Given the description of an element on the screen output the (x, y) to click on. 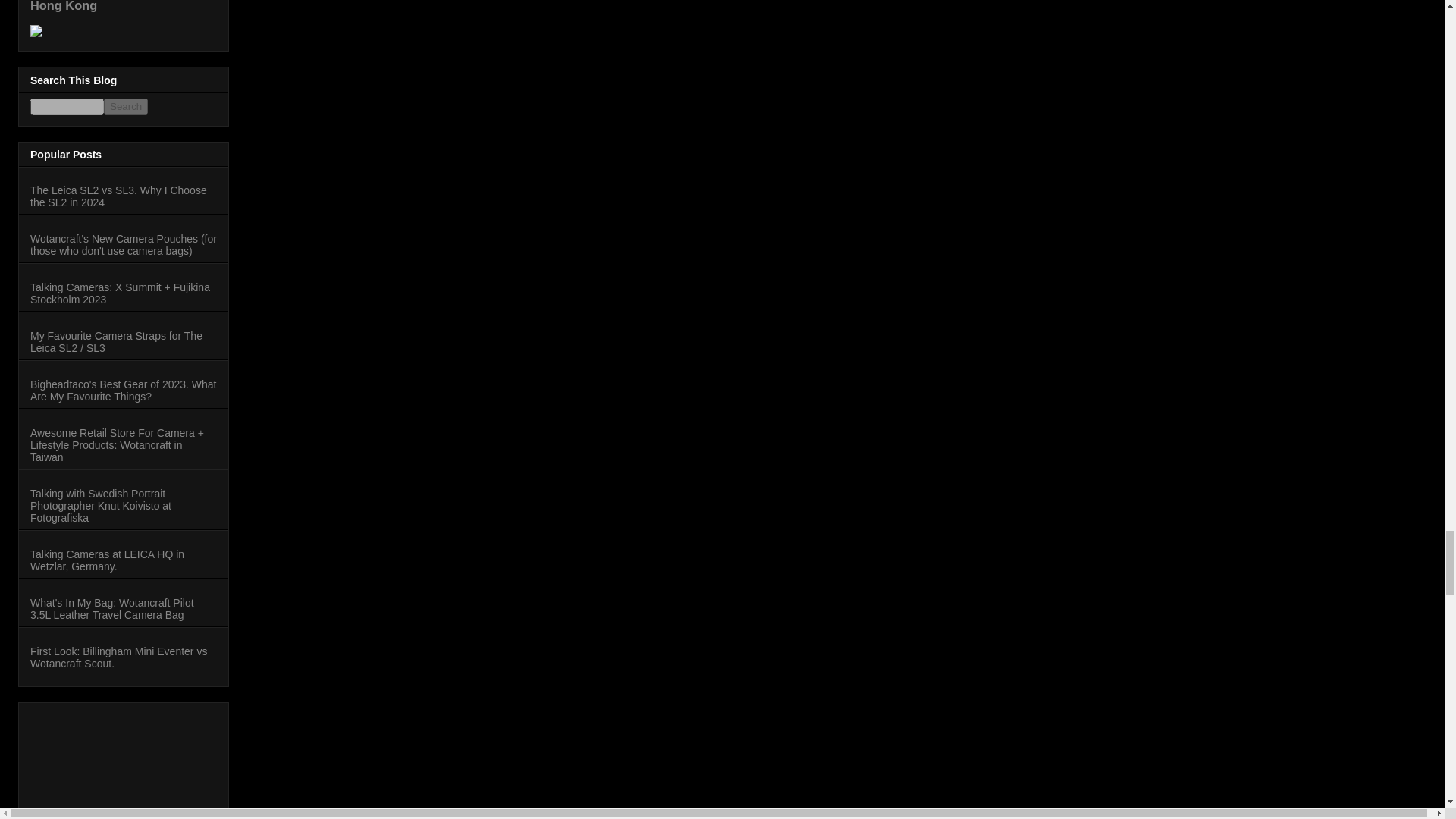
search (66, 106)
Search (125, 106)
Search (125, 106)
search (125, 106)
